Given the description of an element on the screen output the (x, y) to click on. 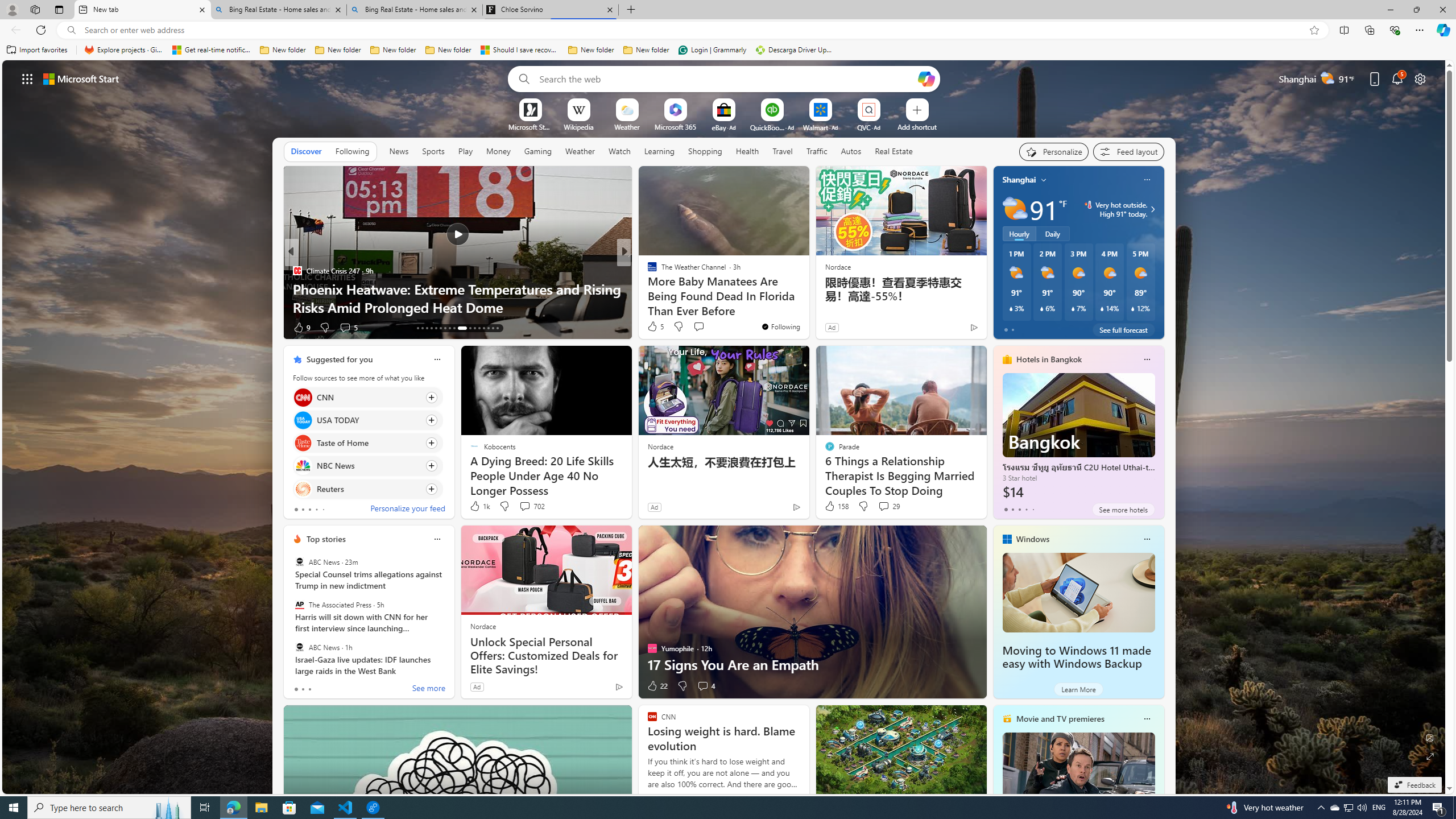
Edit Background (1430, 737)
NBC News (302, 466)
Favorites bar (728, 49)
Personalize your feed (407, 509)
